Given the description of an element on the screen output the (x, y) to click on. 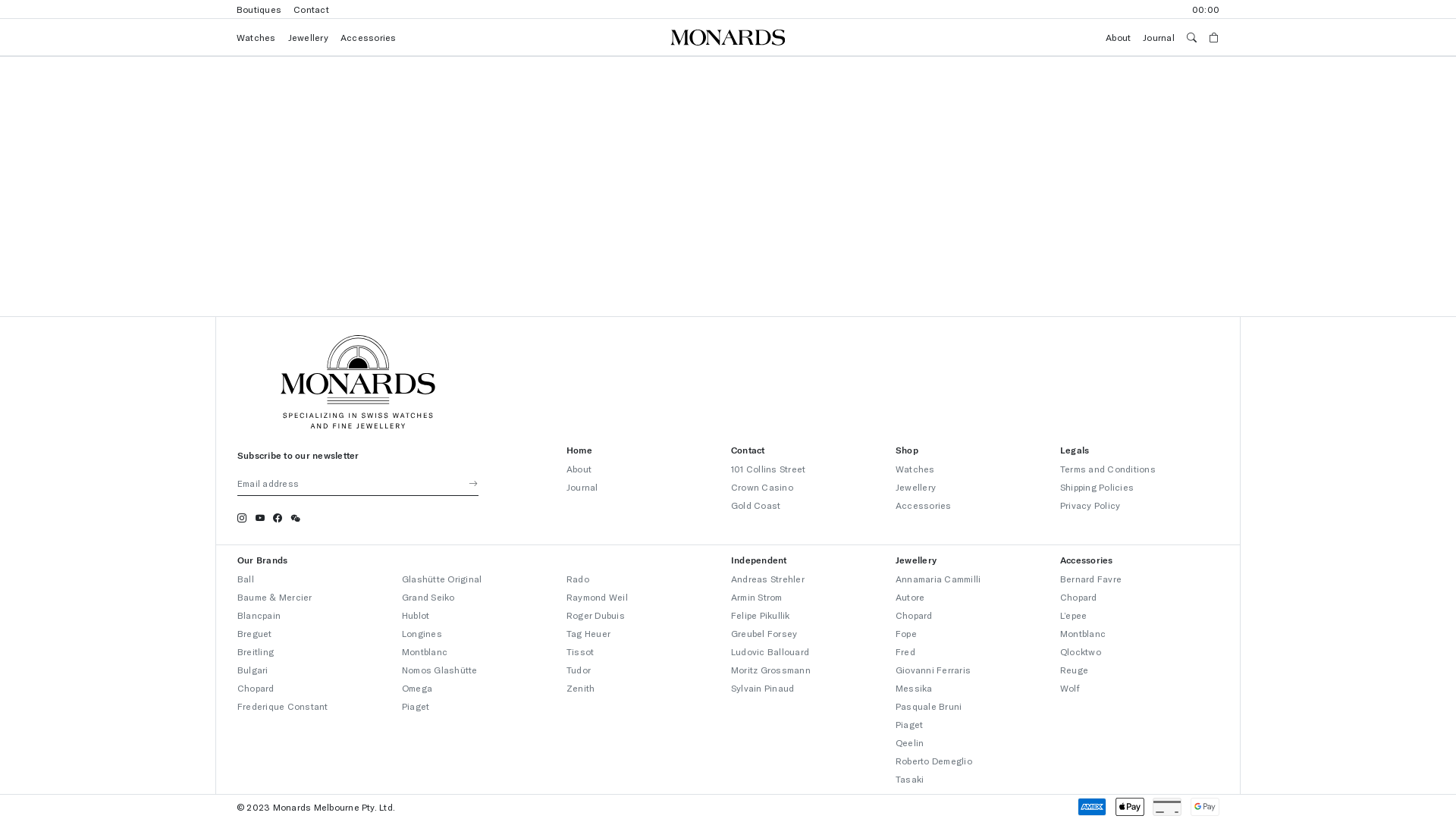
Chopard Element type: text (913, 614)
Wolf Element type: text (1069, 687)
Grand Seiko Element type: text (428, 596)
Piaget Element type: text (415, 705)
Hublot Element type: text (415, 614)
About Element type: text (578, 468)
Ludovic Ballouard Element type: text (770, 651)
Montblanc Element type: text (1082, 632)
Tissot Element type: text (579, 651)
Giovanni Ferraris Element type: text (932, 669)
Andreas Strehler Element type: text (767, 578)
101 Collins Street Element type: text (768, 468)
Jewellery Element type: text (915, 486)
Gold Coast Element type: text (755, 504)
Breguet Element type: text (254, 632)
Journal Element type: text (1152, 36)
Longines Element type: text (421, 632)
Piaget Element type: text (908, 723)
Autore Element type: text (909, 596)
Blancpain Element type: text (258, 614)
Qeelin Element type: text (909, 742)
Tasaki Element type: text (909, 778)
Chopard Element type: text (1078, 596)
Rado Element type: text (577, 578)
Ball Element type: text (245, 578)
About Element type: text (1111, 36)
Omega Element type: text (416, 687)
Boutiques Element type: text (264, 9)
Baume & Mercier Element type: text (274, 596)
Breitling Element type: text (255, 651)
Moritz Grossmann Element type: text (770, 669)
Jewellery Element type: text (314, 36)
Qlocktwo Element type: text (1080, 651)
Fred Element type: text (905, 651)
Pasquale Bruni Element type: text (928, 705)
Messika Element type: text (913, 687)
Terms and Conditions Element type: text (1107, 468)
Accessories Element type: text (374, 36)
Journal Element type: text (582, 486)
Raymond Weil Element type: text (596, 596)
Privacy Policy Element type: text (1090, 504)
Bernard Favre Element type: text (1090, 578)
Watches Element type: text (262, 36)
Armin Strom Element type: text (756, 596)
Tag Heuer Element type: text (588, 632)
Fope Element type: text (905, 632)
Accessories Element type: text (923, 504)
Shipping Policies Element type: text (1096, 486)
Frederique Constant Element type: text (282, 705)
Zenith Element type: text (580, 687)
Watches Element type: text (915, 468)
Greubel Forsey Element type: text (764, 632)
Chopard Element type: text (255, 687)
Tudor Element type: text (578, 669)
Reuge Element type: text (1074, 669)
Felipe Pikullik Element type: text (760, 614)
Crown Casino Element type: text (762, 486)
Bulgari Element type: text (252, 669)
Sylvain Pinaud Element type: text (762, 687)
Annamaria Cammilli Element type: text (937, 578)
Montblanc Element type: text (424, 651)
Roberto Demeglio Element type: text (933, 760)
Contact Element type: text (317, 9)
Roger Dubuis Element type: text (595, 614)
